Given the description of an element on the screen output the (x, y) to click on. 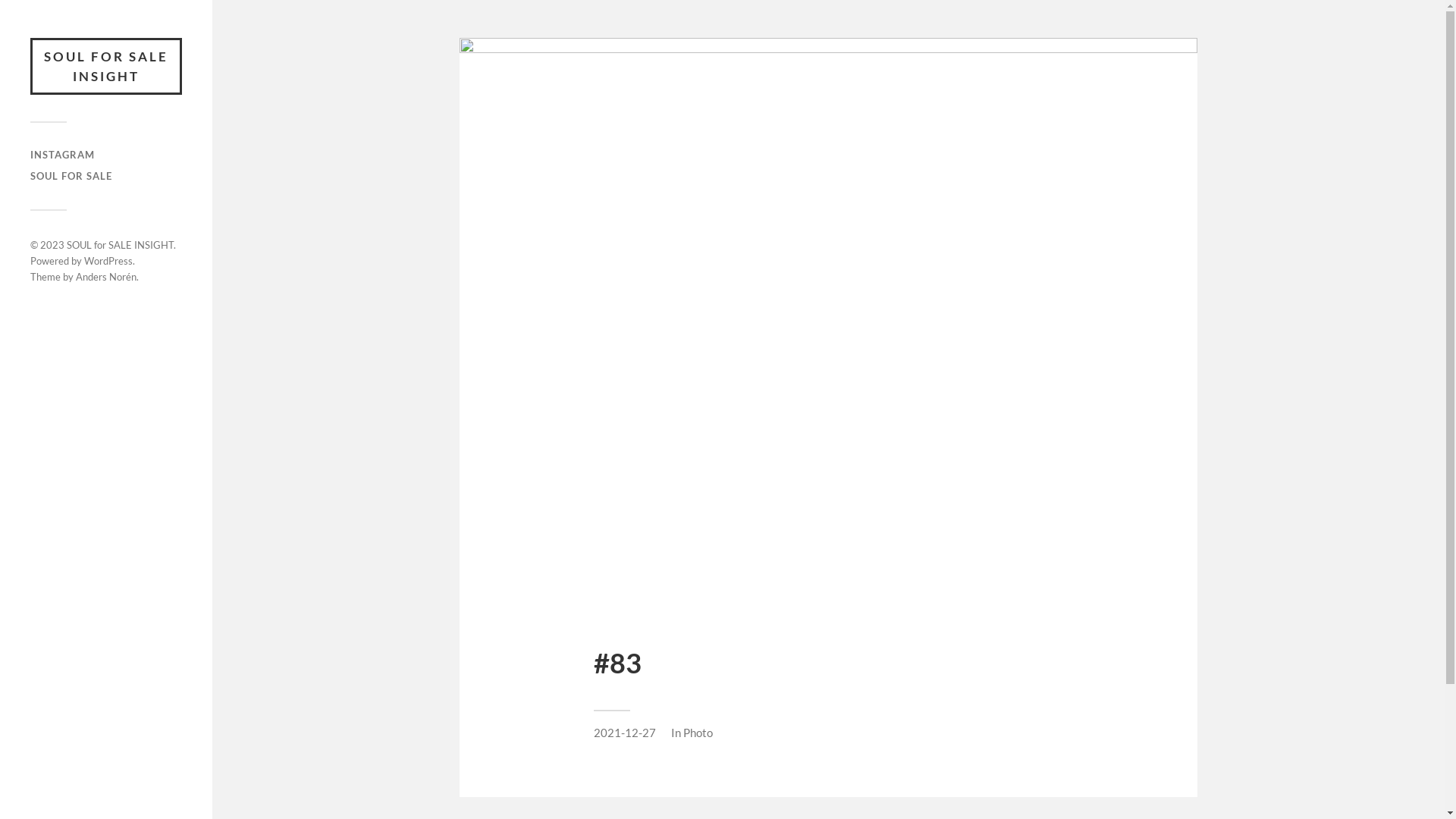
INSTAGRAM Element type: text (62, 154)
SOUL FOR SALE Element type: text (71, 175)
SOUL FOR SALE INSIGHT Element type: text (106, 65)
WordPress Element type: text (108, 260)
2021-12-27 Element type: text (624, 732)
SOUL for SALE INSIGHT Element type: text (119, 244)
Photo Element type: text (697, 732)
